Given the description of an element on the screen output the (x, y) to click on. 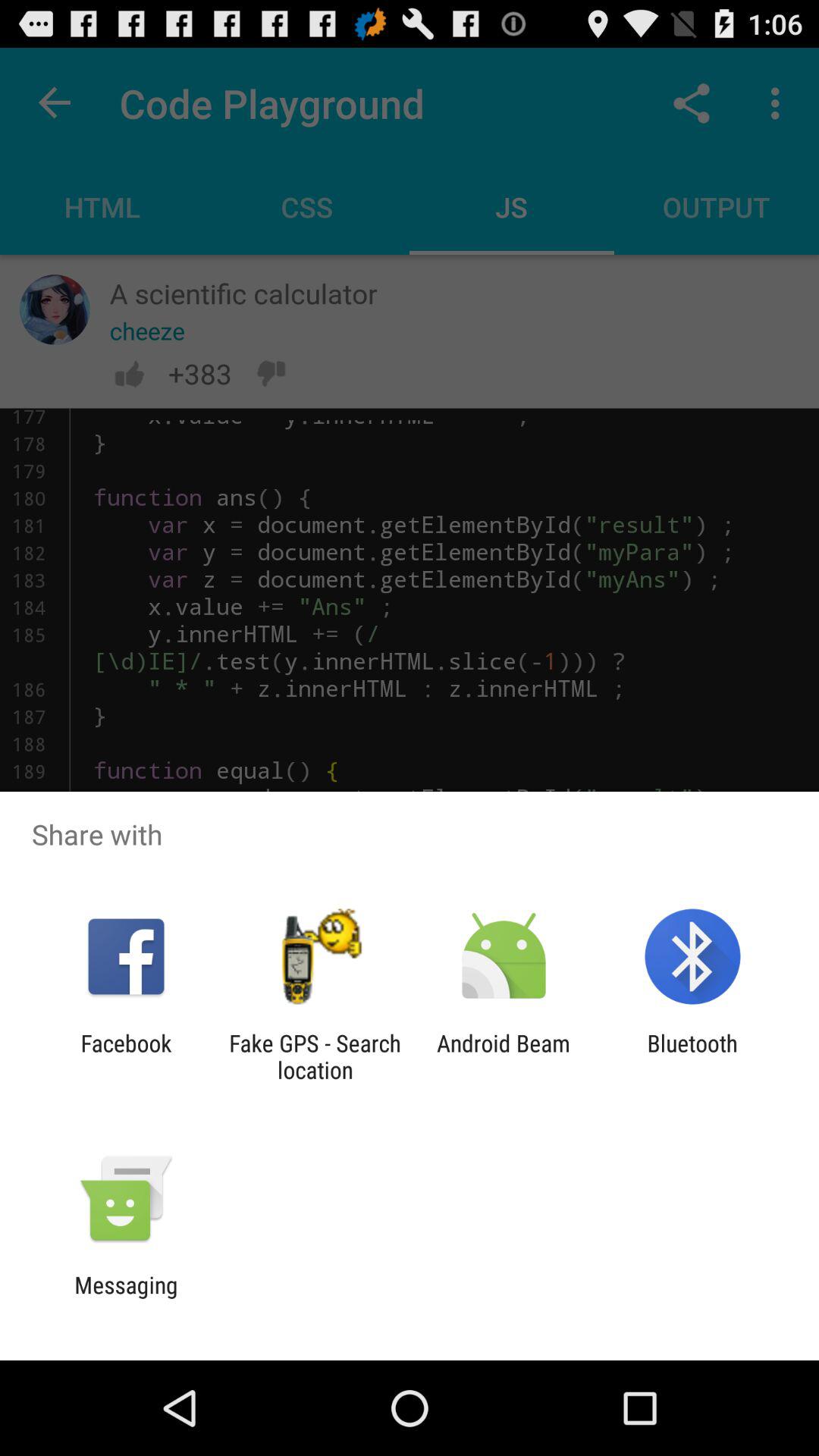
launch the icon next to the fake gps search icon (125, 1056)
